Given the description of an element on the screen output the (x, y) to click on. 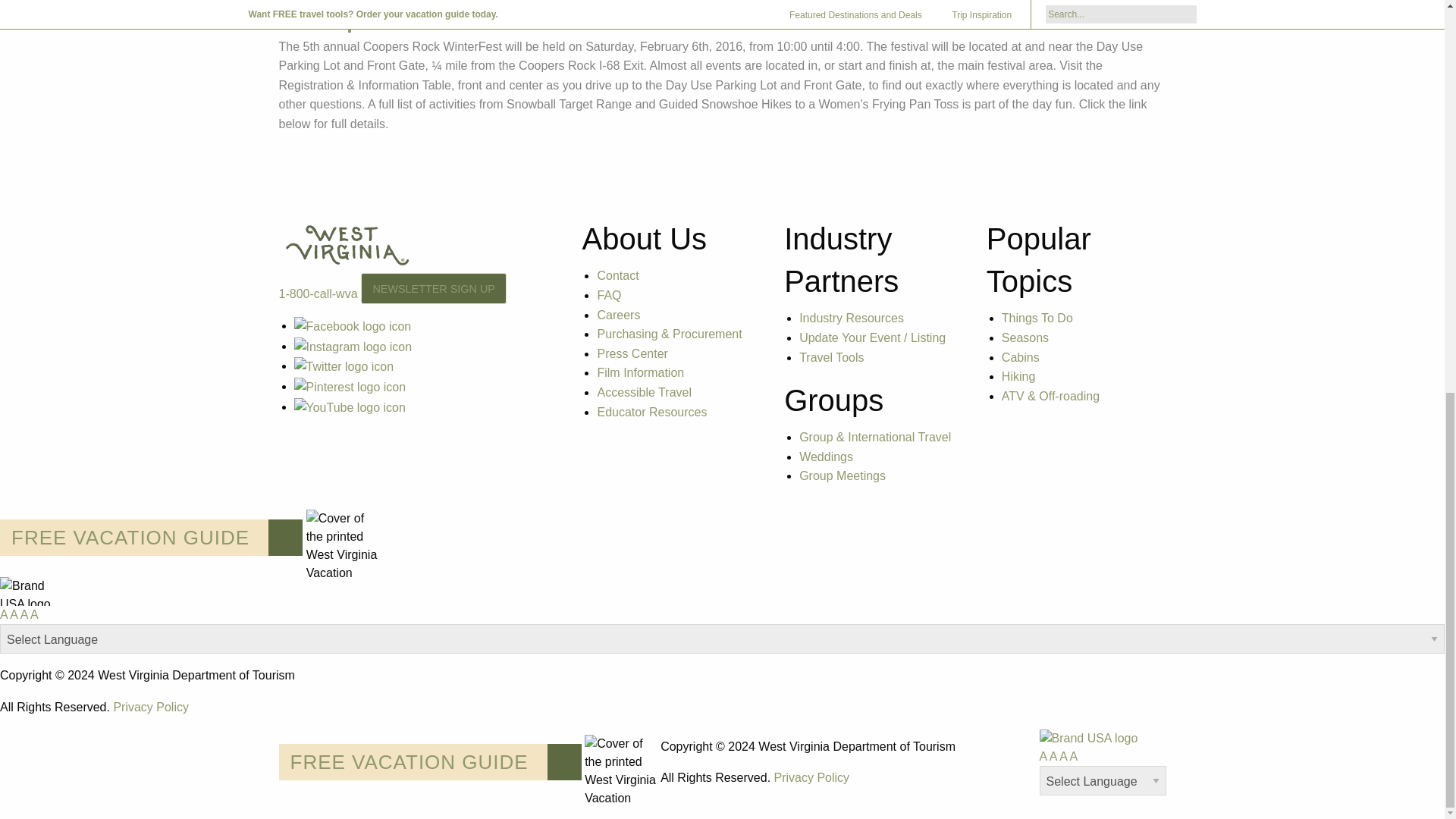
Find us on Facebook (353, 325)
Brand USA logo (1088, 738)
Find us on Twitter (344, 365)
Find us on YouTube (350, 406)
Brand USA logo (26, 591)
Find us on Instagram (353, 345)
Find us on Pinterest (350, 386)
